Given the description of an element on the screen output the (x, y) to click on. 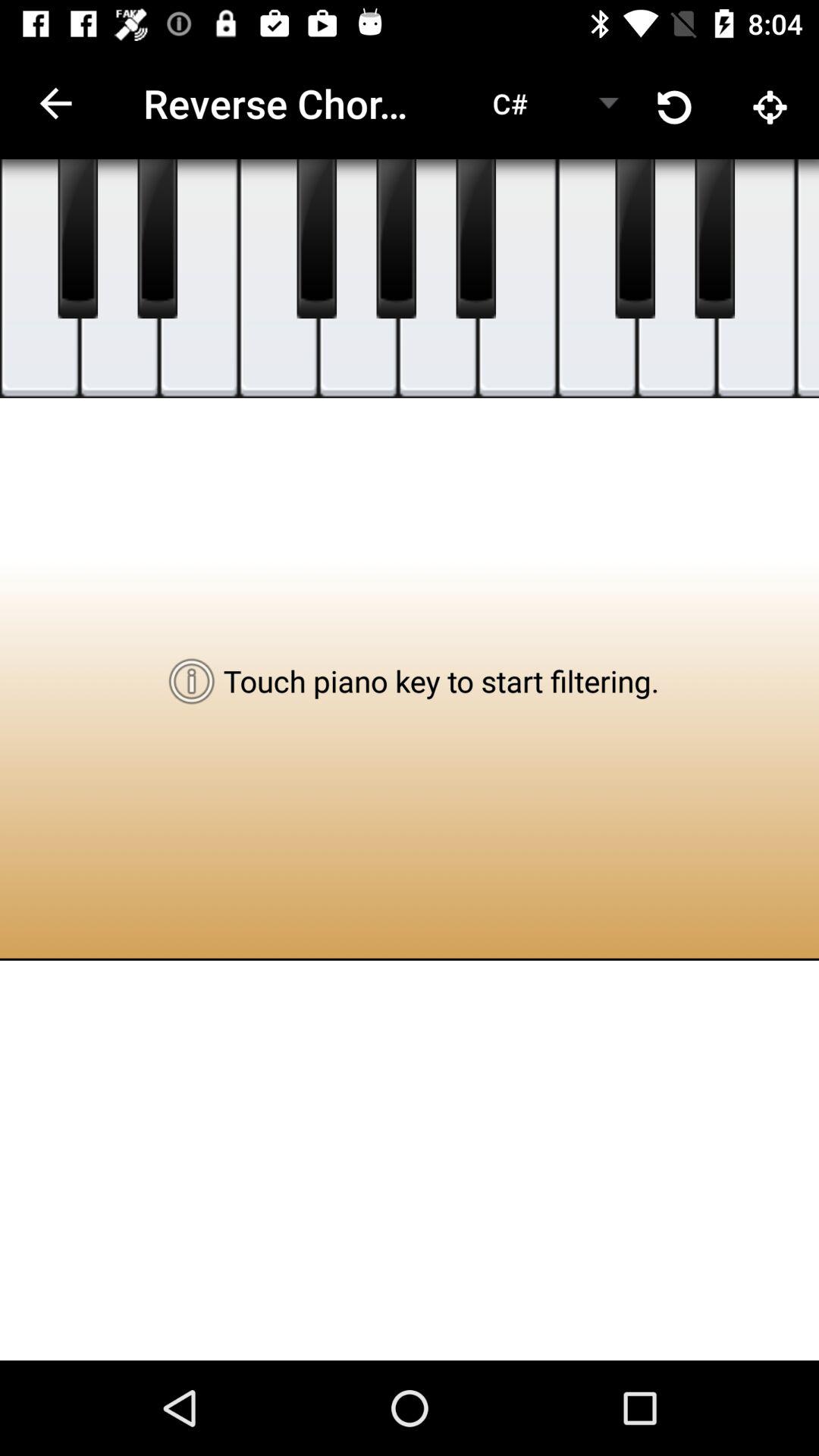
shows piano button (475, 238)
